Given the description of an element on the screen output the (x, y) to click on. 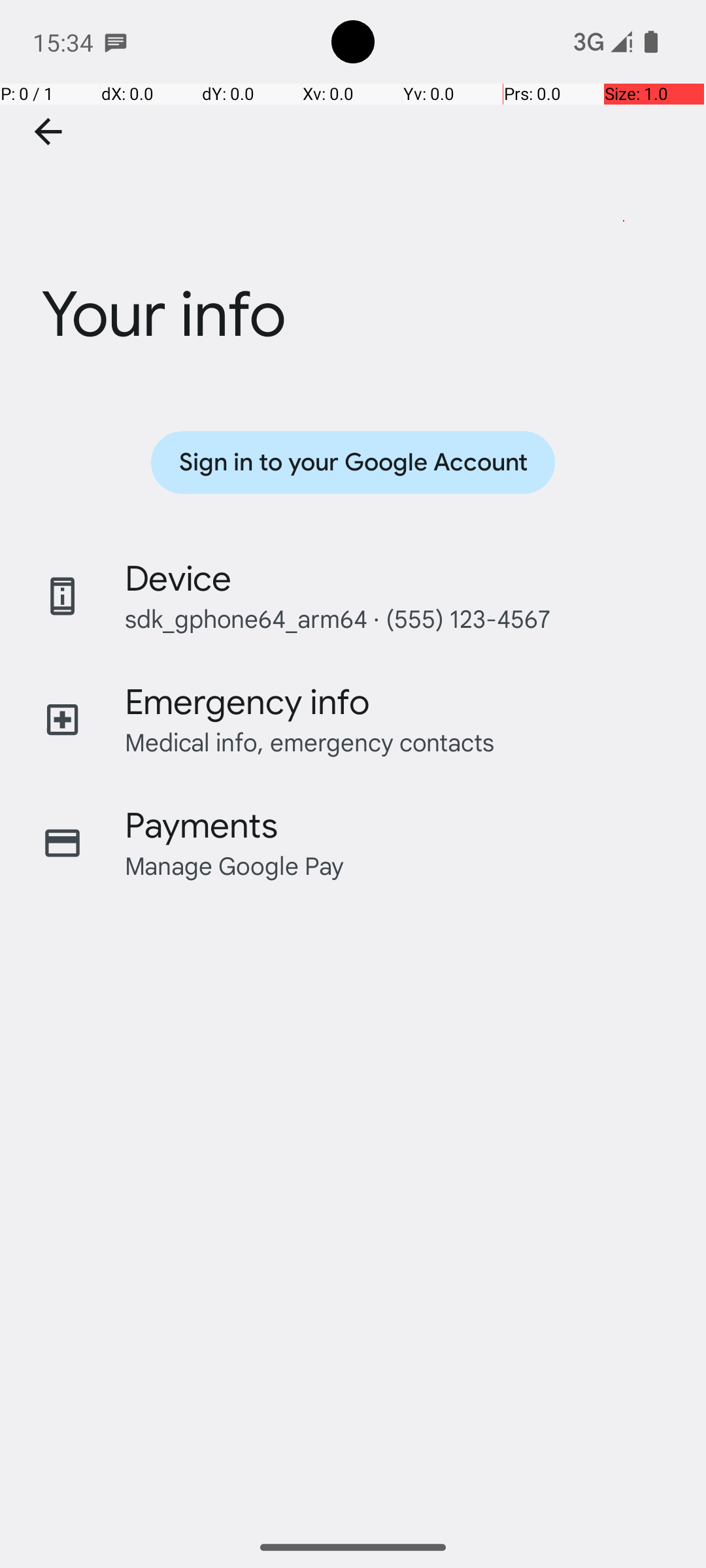
Your info Element type: android.widget.FrameLayout (353, 236)
Sign in to your Google Account Element type: android.widget.Button (352, 462)
Device Element type: android.widget.TextView (178, 578)
sdk_gphone64_arm64 · (555) 123-4567 Element type: android.widget.TextView (337, 618)
Emergency info Element type: android.widget.TextView (246, 702)
Medical info, emergency contacts Element type: android.widget.TextView (309, 741)
Payments Element type: android.widget.TextView (200, 825)
Manage Google Pay Element type: android.widget.TextView (234, 865)
